Given the description of an element on the screen output the (x, y) to click on. 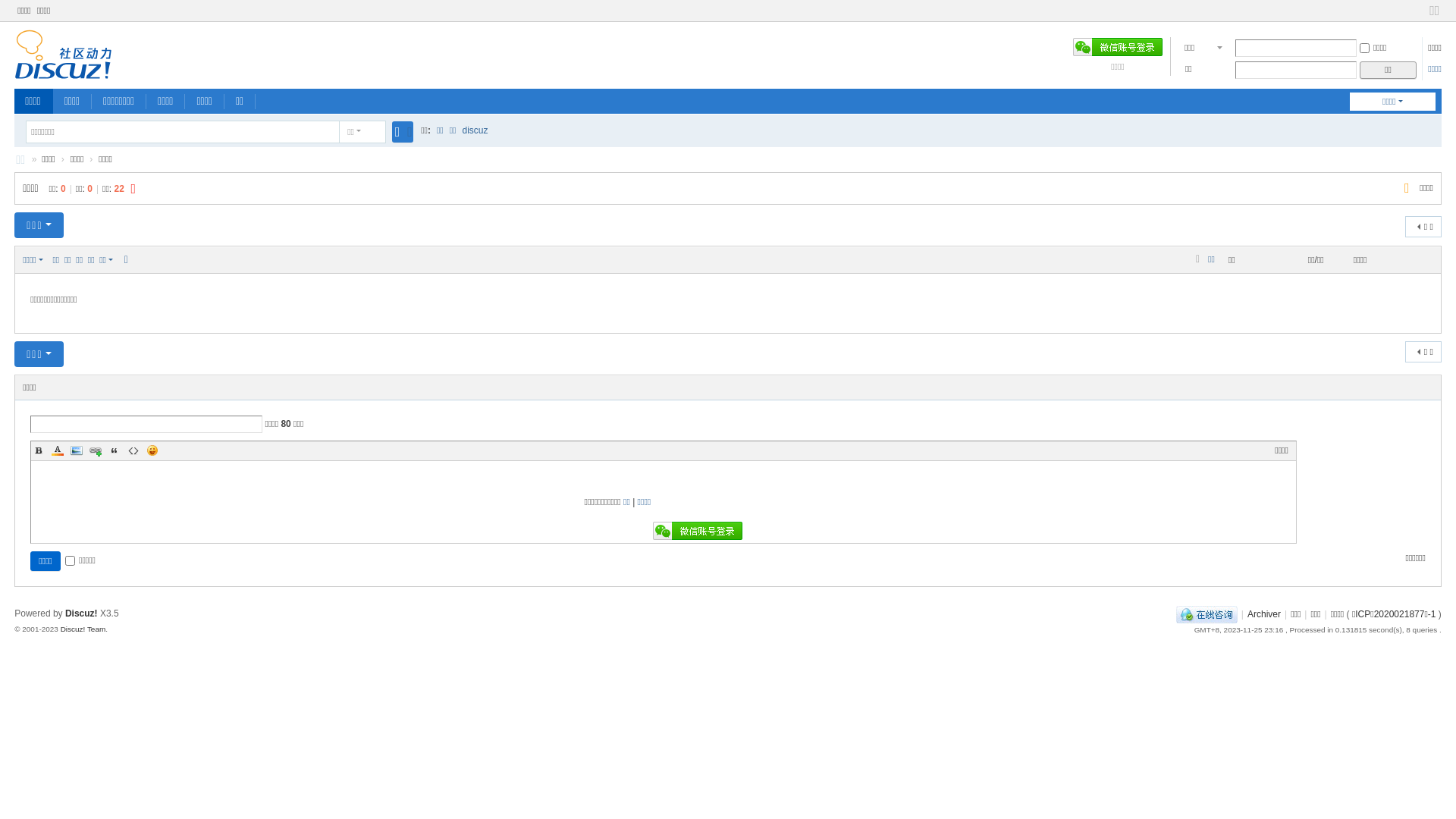
discuz Element type: text (475, 130)
Archiver Element type: text (1263, 613)
QQ Element type: hover (1206, 613)
Discuz! Element type: text (81, 613)
Smilies Element type: text (152, 450)
Link Element type: text (95, 450)
Quote Element type: text (114, 450)
Color Element type: text (57, 450)
Code Element type: text (133, 450)
B Element type: text (38, 450)
Discuz! Team Element type: text (83, 628)
Image Element type: text (76, 450)
